Given the description of an element on the screen output the (x, y) to click on. 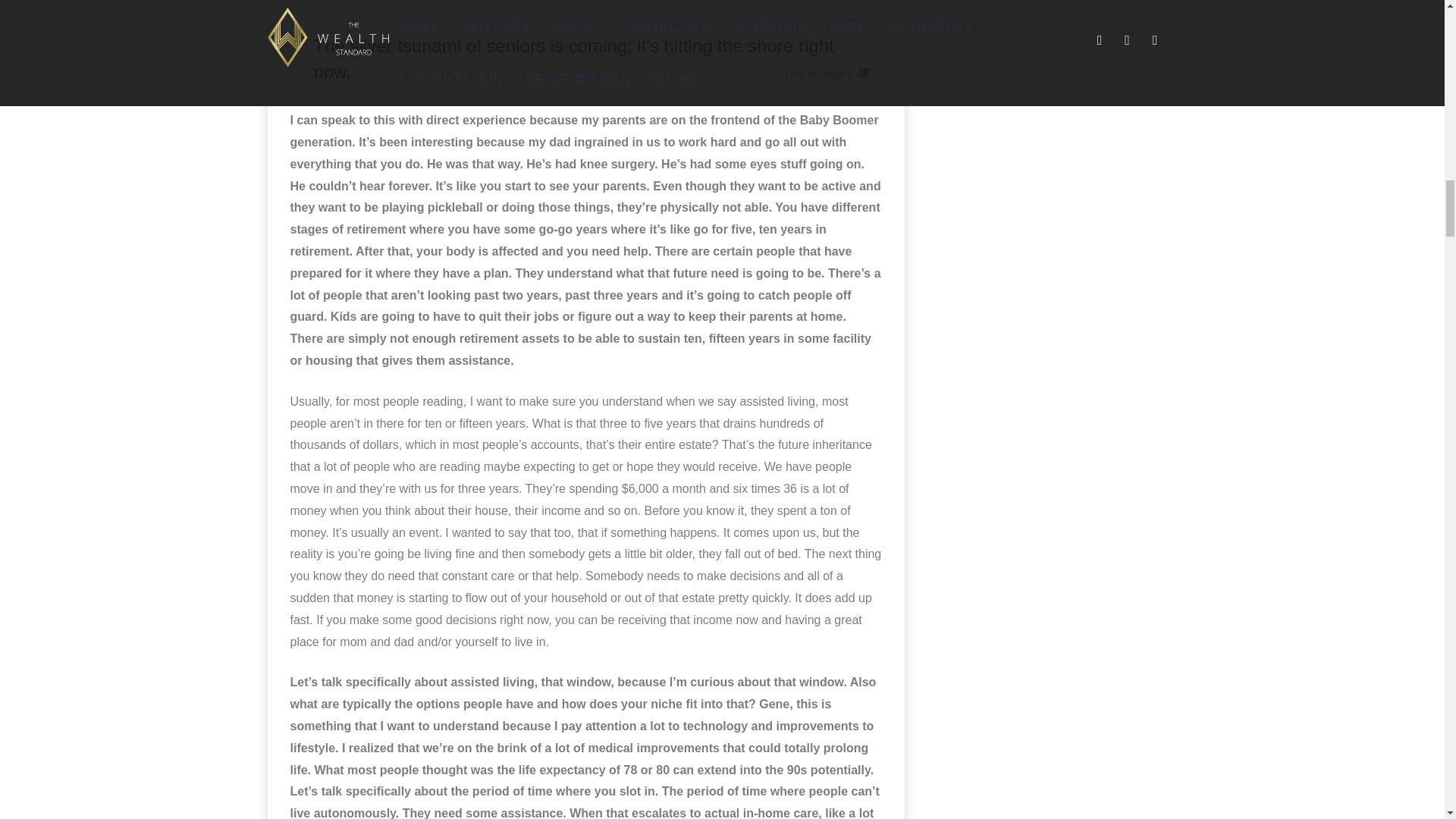
CLICK TO TWEET (823, 70)
